Given the description of an element on the screen output the (x, y) to click on. 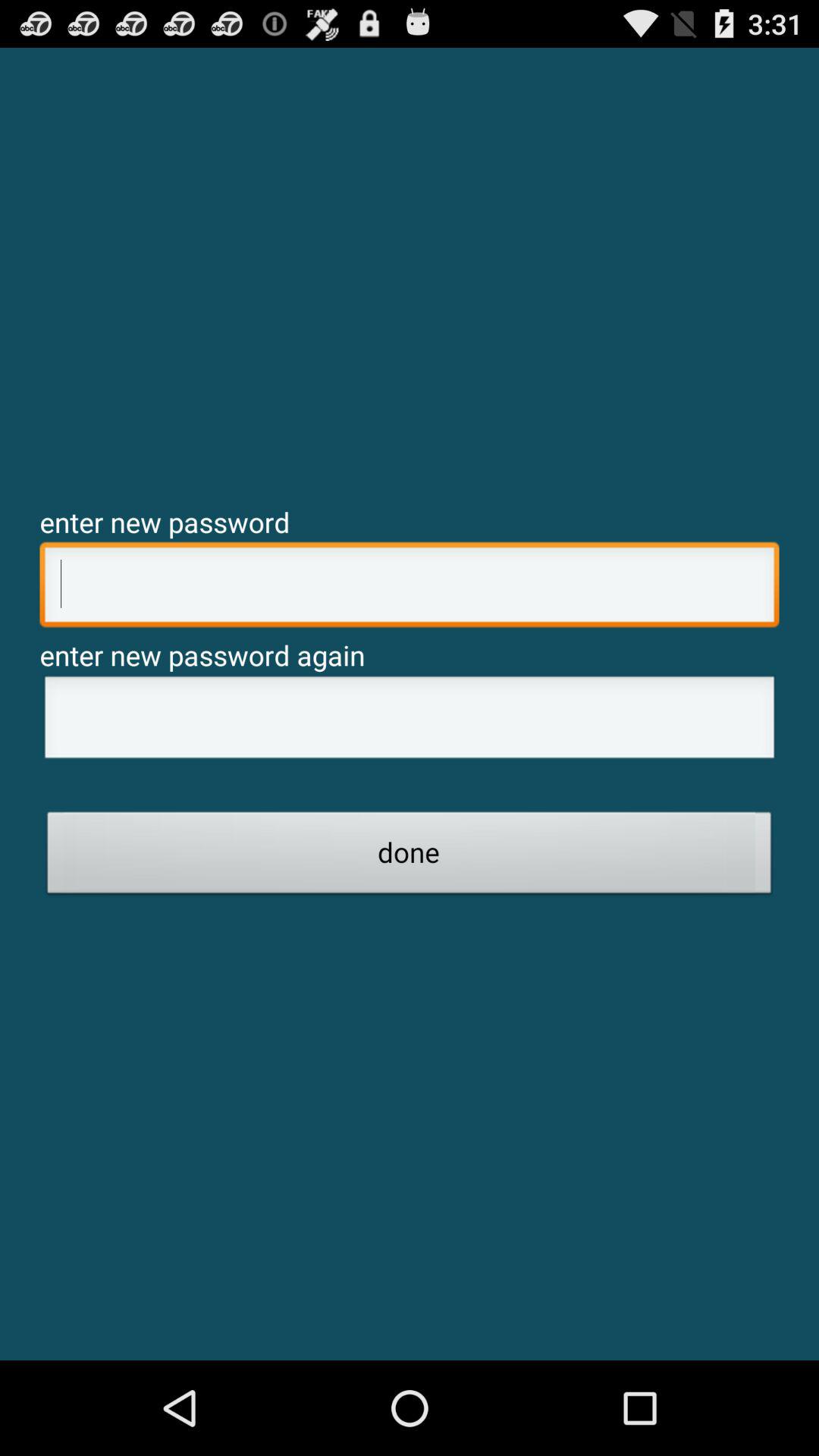
jump until done button (409, 856)
